Given the description of an element on the screen output the (x, y) to click on. 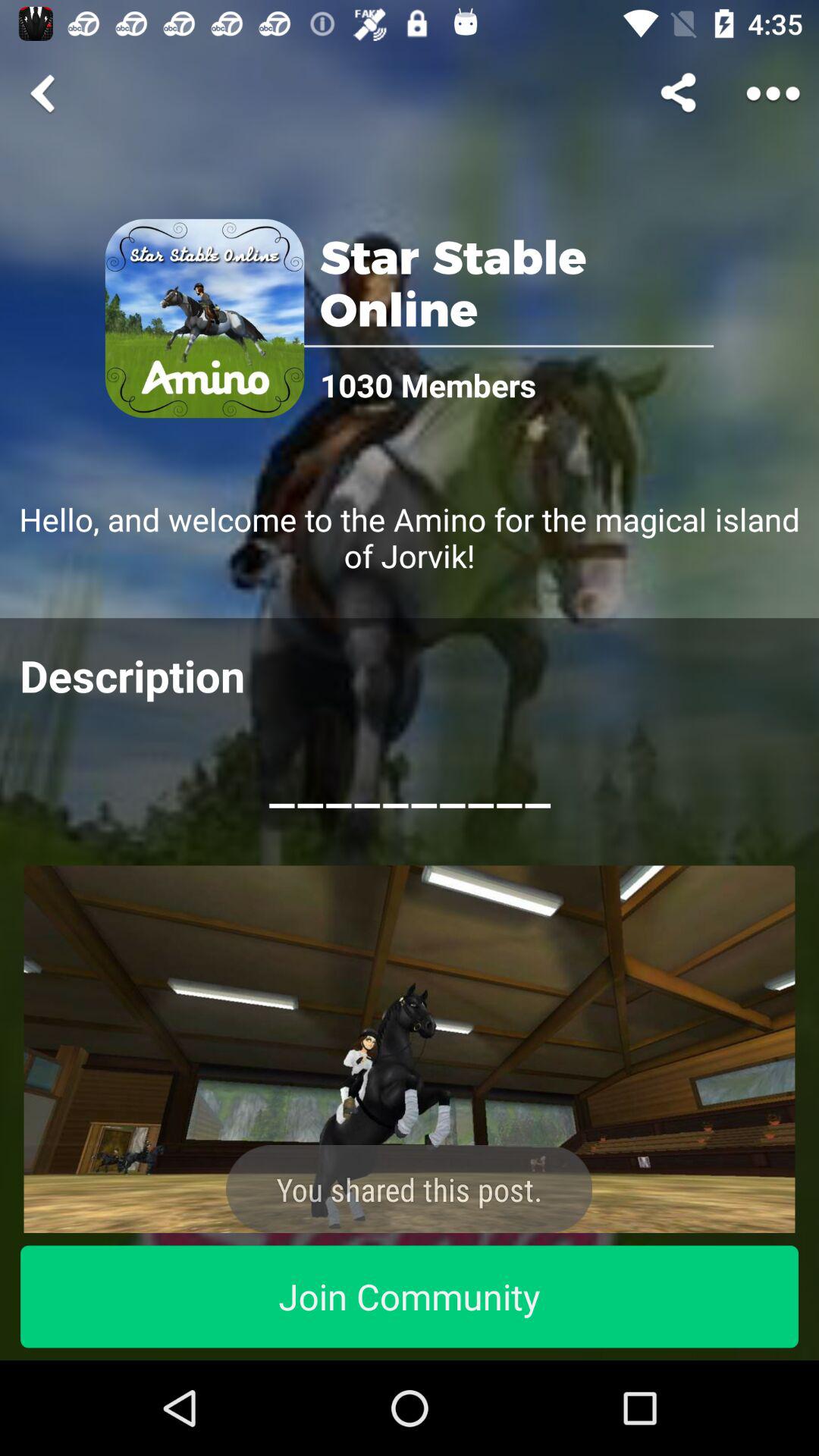
share this page (681, 93)
